Given the description of an element on the screen output the (x, y) to click on. 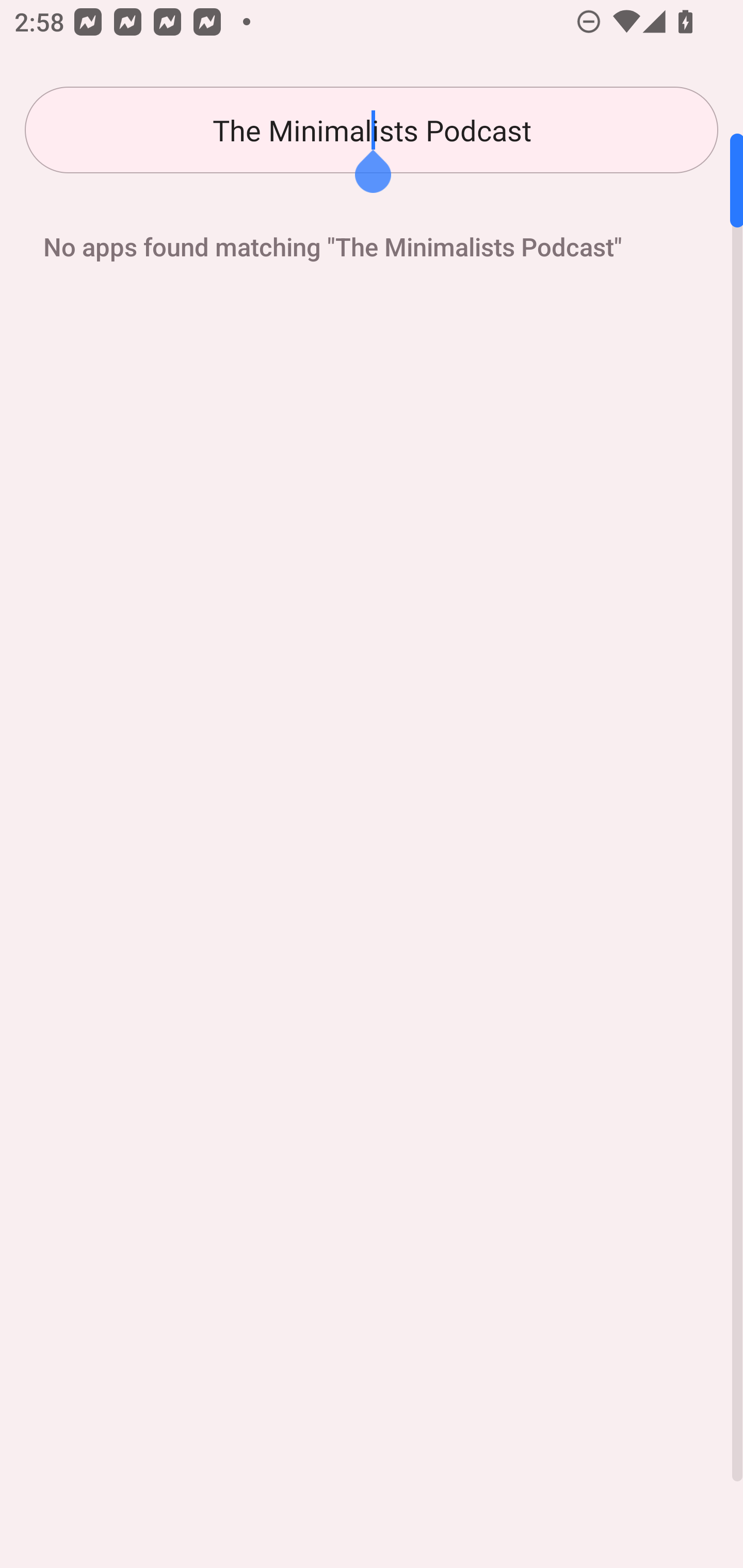
The Minimalists Podcast (371, 130)
